Given the description of an element on the screen output the (x, y) to click on. 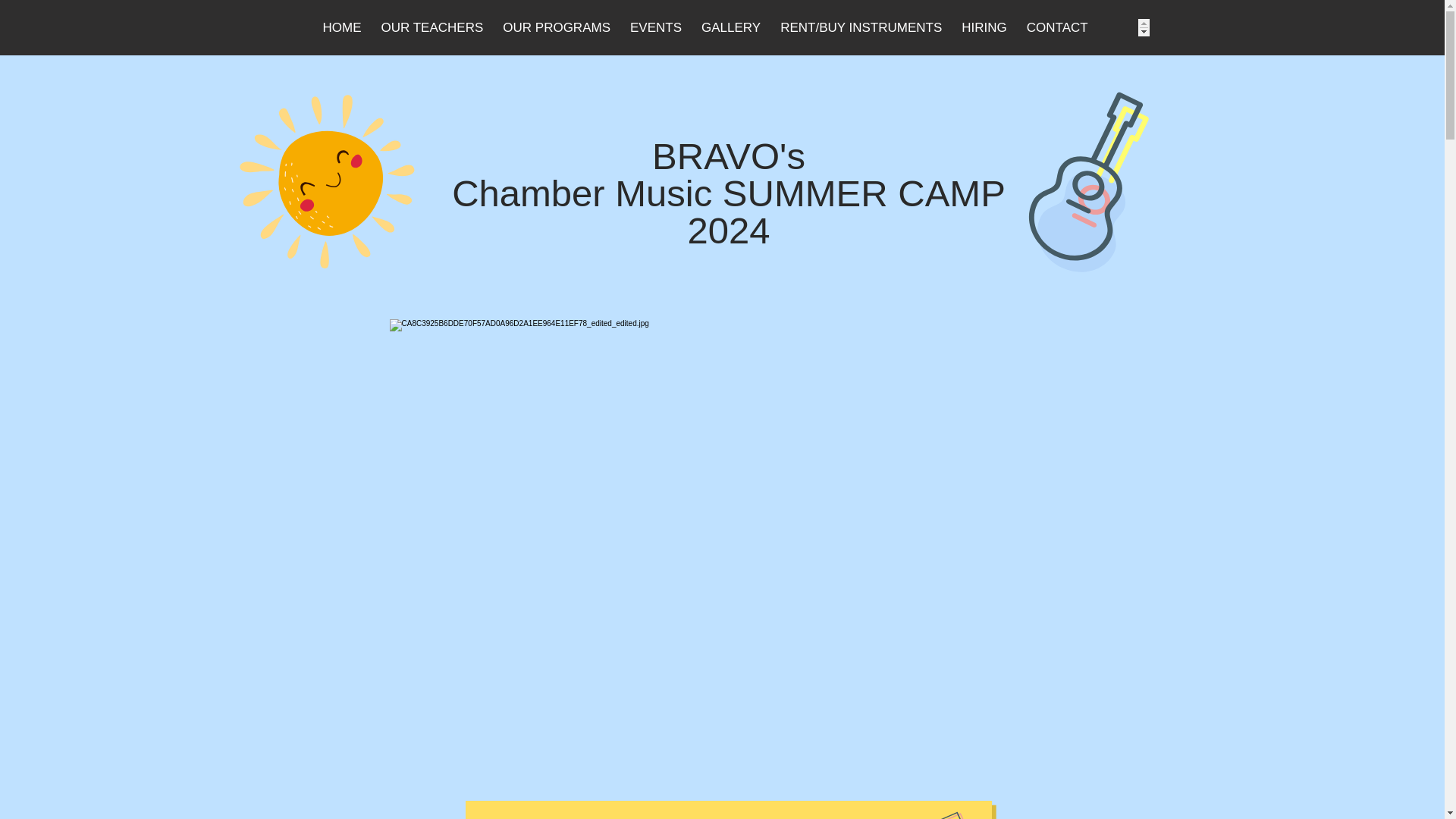
GALLERY (730, 27)
OUR PROGRAMS (556, 27)
HIRING (984, 27)
CONTACT (1056, 27)
EVENTS (655, 27)
HOME (342, 27)
OUR TEACHERS (432, 27)
